Given the description of an element on the screen output the (x, y) to click on. 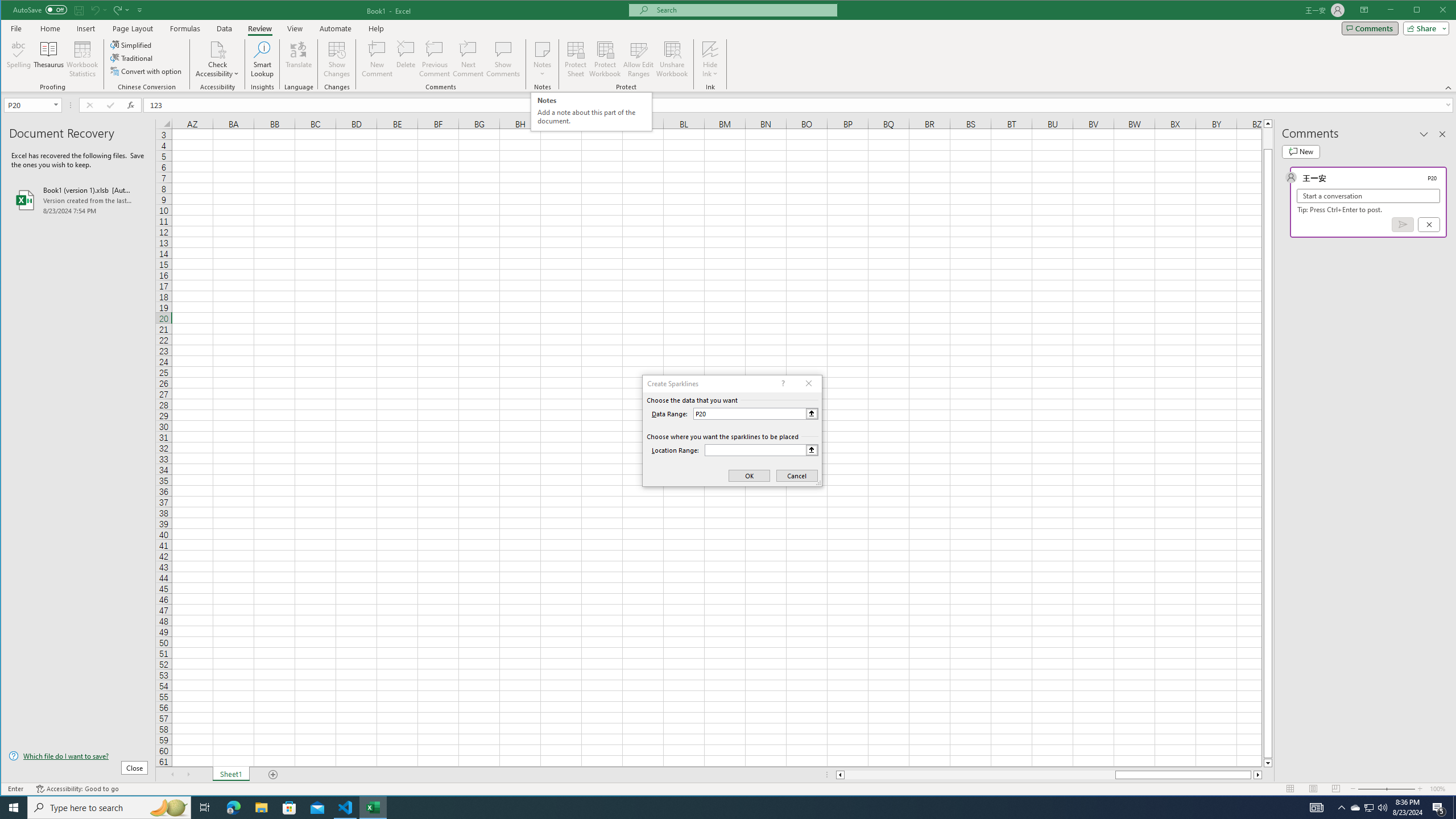
Next Comment (467, 59)
Notes (541, 59)
Simplified (590, 111)
